Given the description of an element on the screen output the (x, y) to click on. 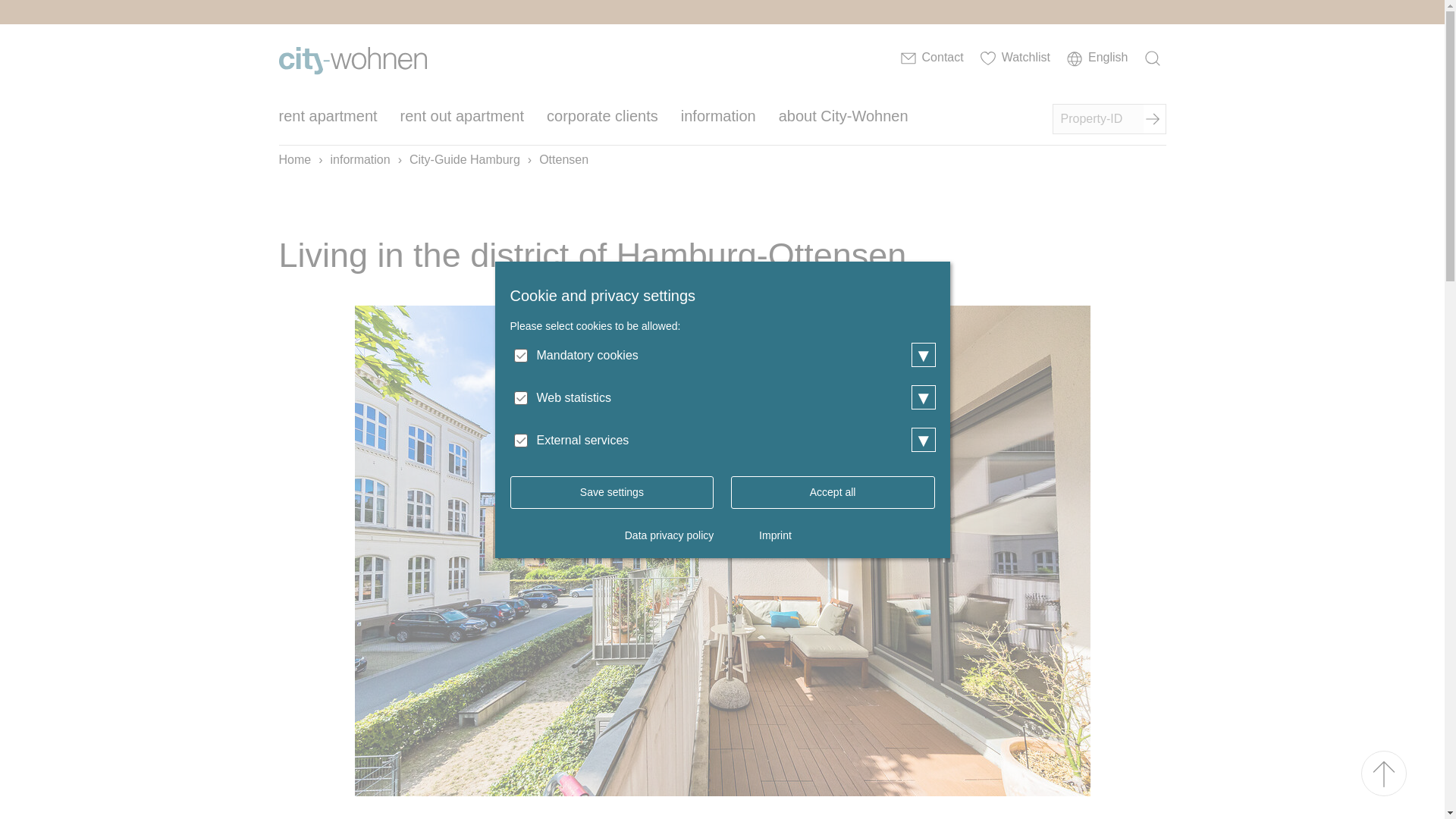
rent out apartment (462, 120)
corporate clients (602, 120)
internal link: Home (352, 60)
about City-Wohnen (843, 120)
Data privacy policy (669, 535)
internal link: information (360, 159)
Save settings (611, 491)
English (1095, 59)
rent apartment (328, 120)
information (360, 159)
information (718, 120)
search (1154, 59)
City-Guide Hamburg (464, 159)
Accept all (832, 491)
internal link: Imprint (775, 535)
